Given the description of an element on the screen output the (x, y) to click on. 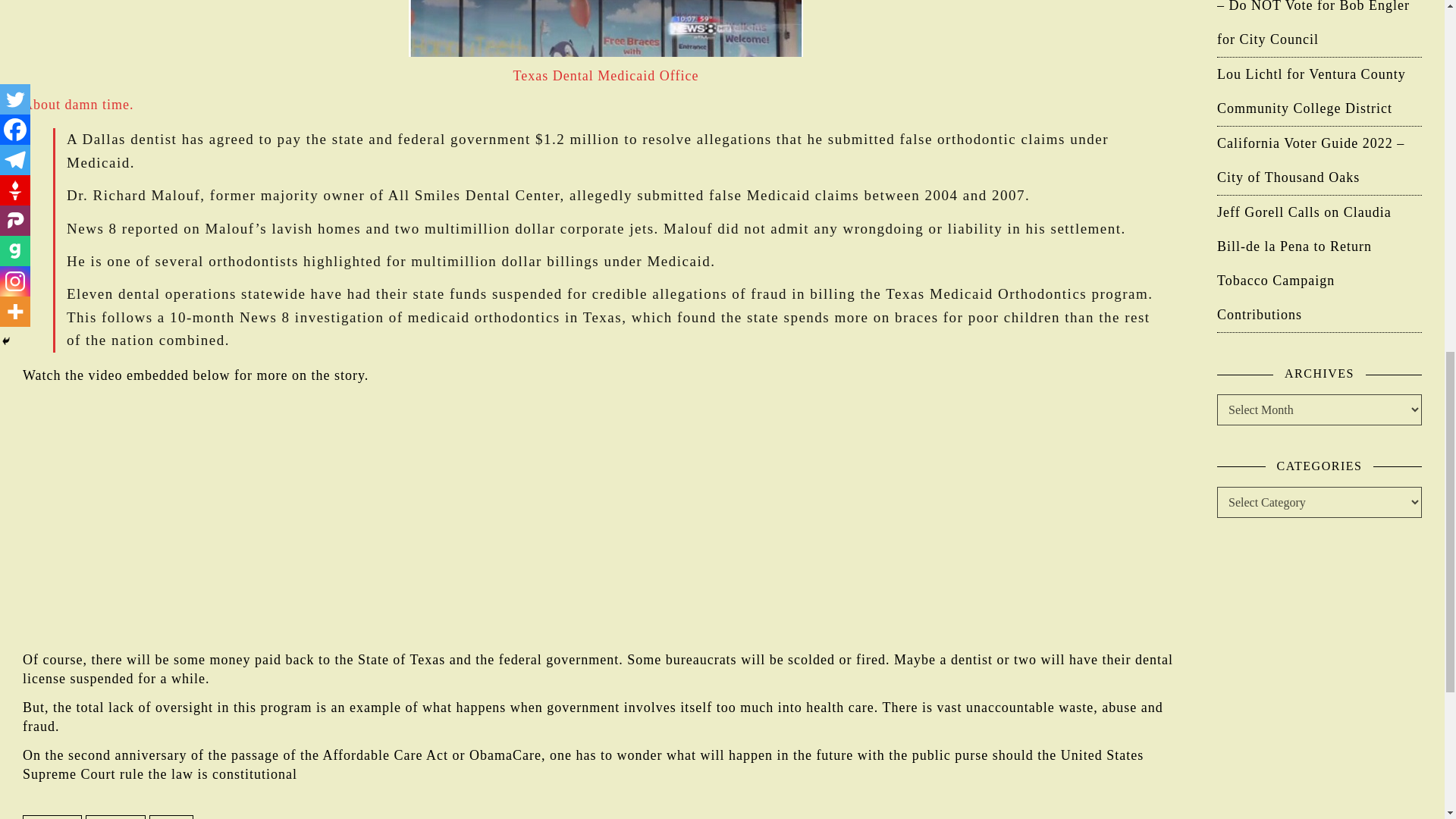
Medicaid (115, 816)
Texas Dental Medicaid Office (605, 75)
Texas (171, 816)
About damn time. (78, 104)
Dentistry (52, 816)
